Given the description of an element on the screen output the (x, y) to click on. 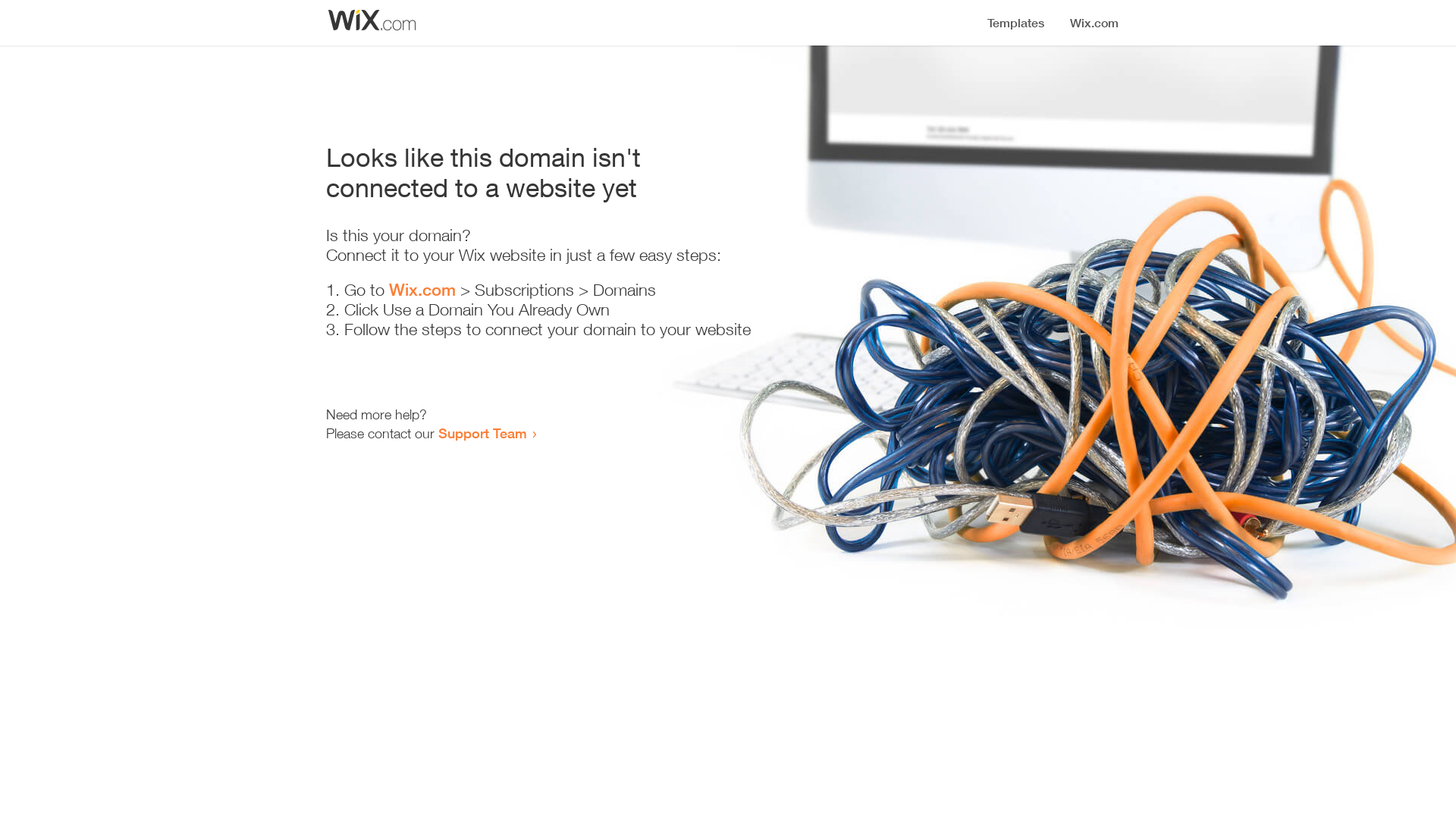
Support Team Element type: text (482, 432)
Wix.com Element type: text (422, 289)
